Given the description of an element on the screen output the (x, y) to click on. 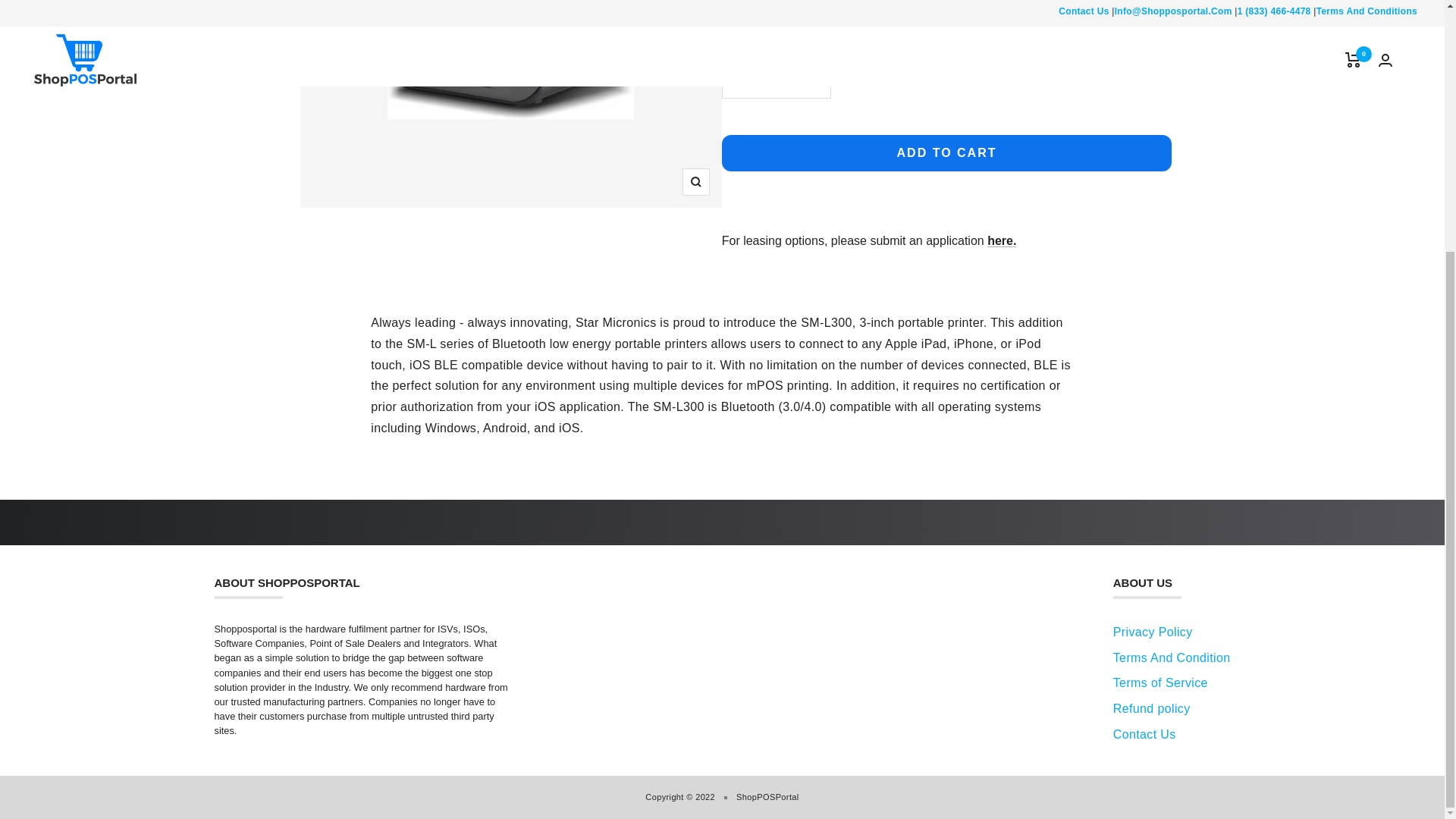
Contact Us (901, 11)
Privacy Policy (1152, 631)
Zoom (696, 181)
Terms And Condition (1171, 657)
here. (1001, 240)
Decrease quantity (739, 80)
Increase quantity (811, 80)
ADD TO CART (947, 153)
Need help with a recommendation? Contact a specialist today. (901, 11)
1 (775, 80)
